Given the description of an element on the screen output the (x, y) to click on. 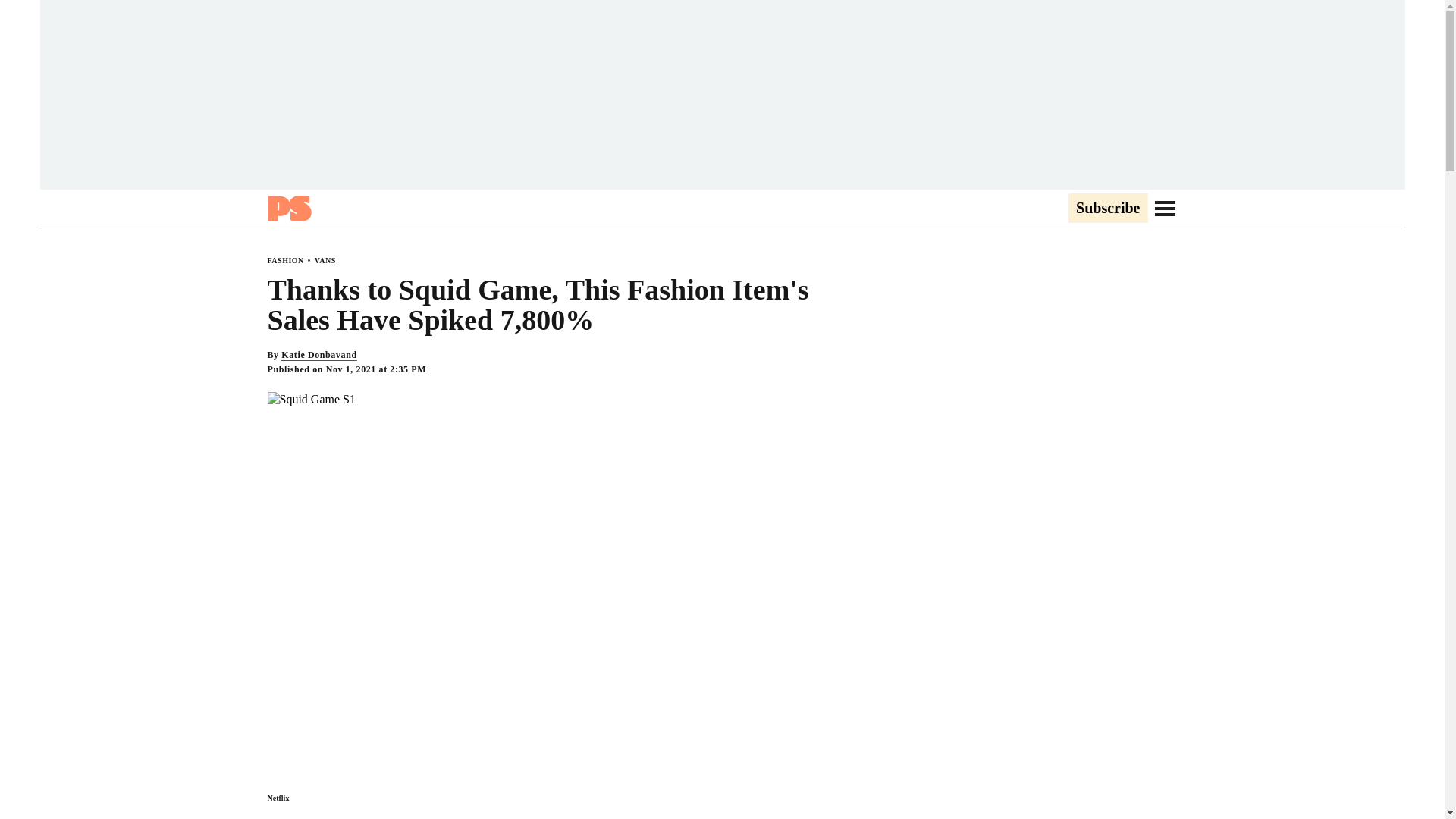
VANS (325, 260)
Go to Navigation (1164, 207)
Netflix (277, 797)
Popsugar (288, 208)
Subscribe (1107, 208)
FASHION (284, 260)
Katie Donbavand (318, 355)
Go to Navigation (1164, 207)
